Given the description of an element on the screen output the (x, y) to click on. 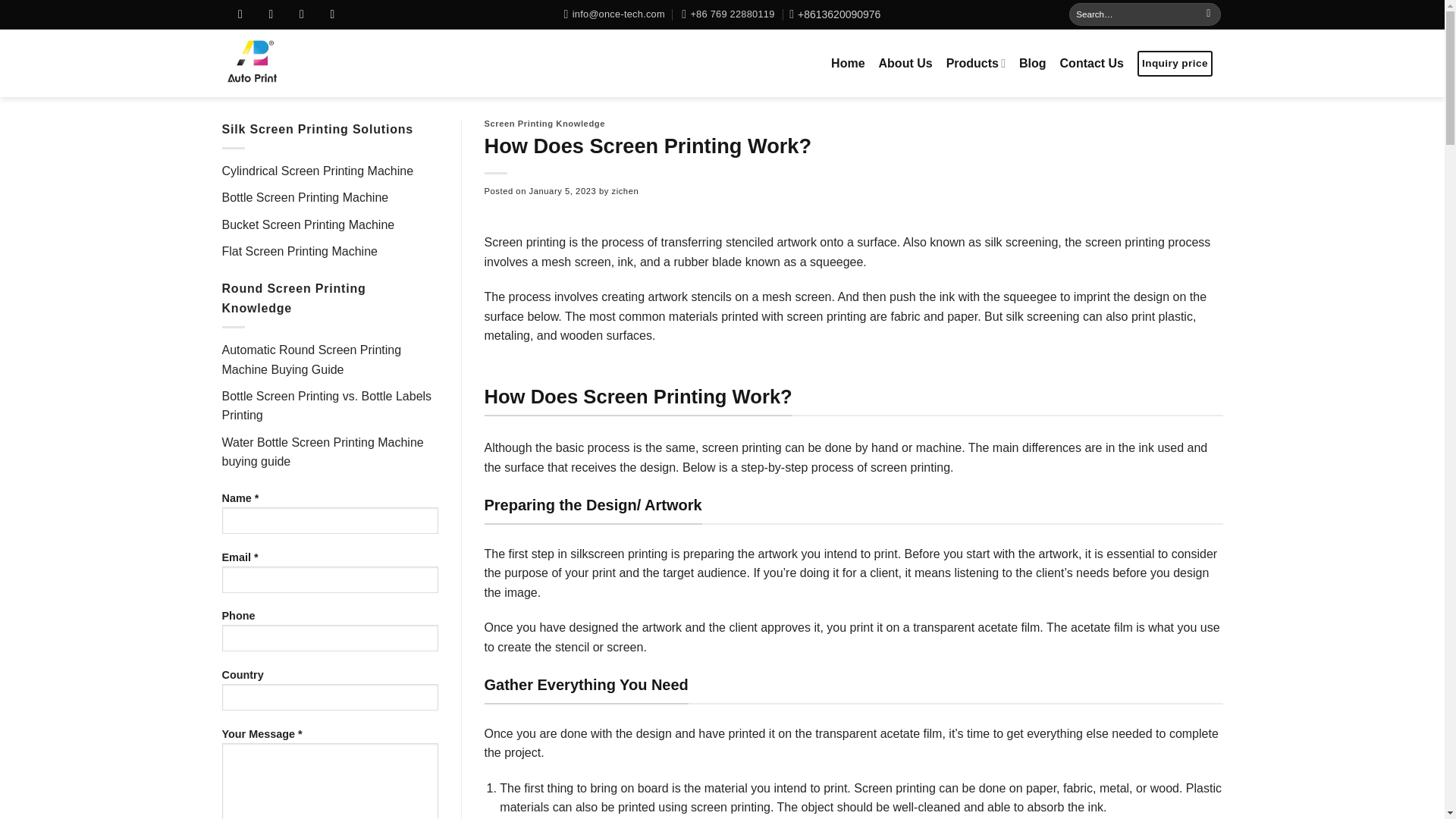
Search (1208, 14)
Home (847, 62)
Products (976, 62)
About Us (906, 62)
